Given the description of an element on the screen output the (x, y) to click on. 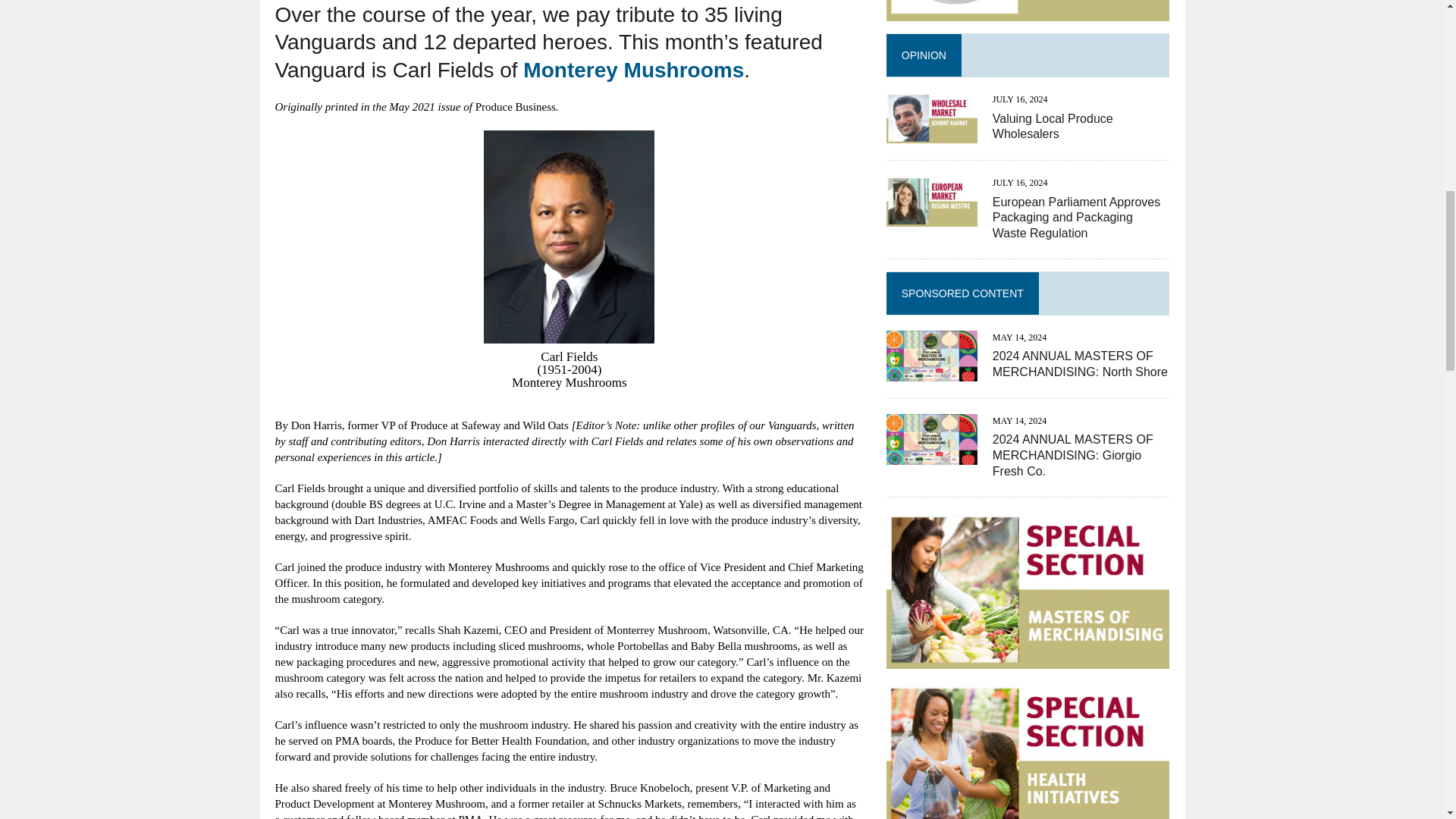
2024 ANNUAL MASTERS OF MERCHANDISING: North Shore (931, 370)
Valuing Local Produce Wholesalers (1052, 126)
Valuing Local Produce Wholesalers (931, 133)
